Given the description of an element on the screen output the (x, y) to click on. 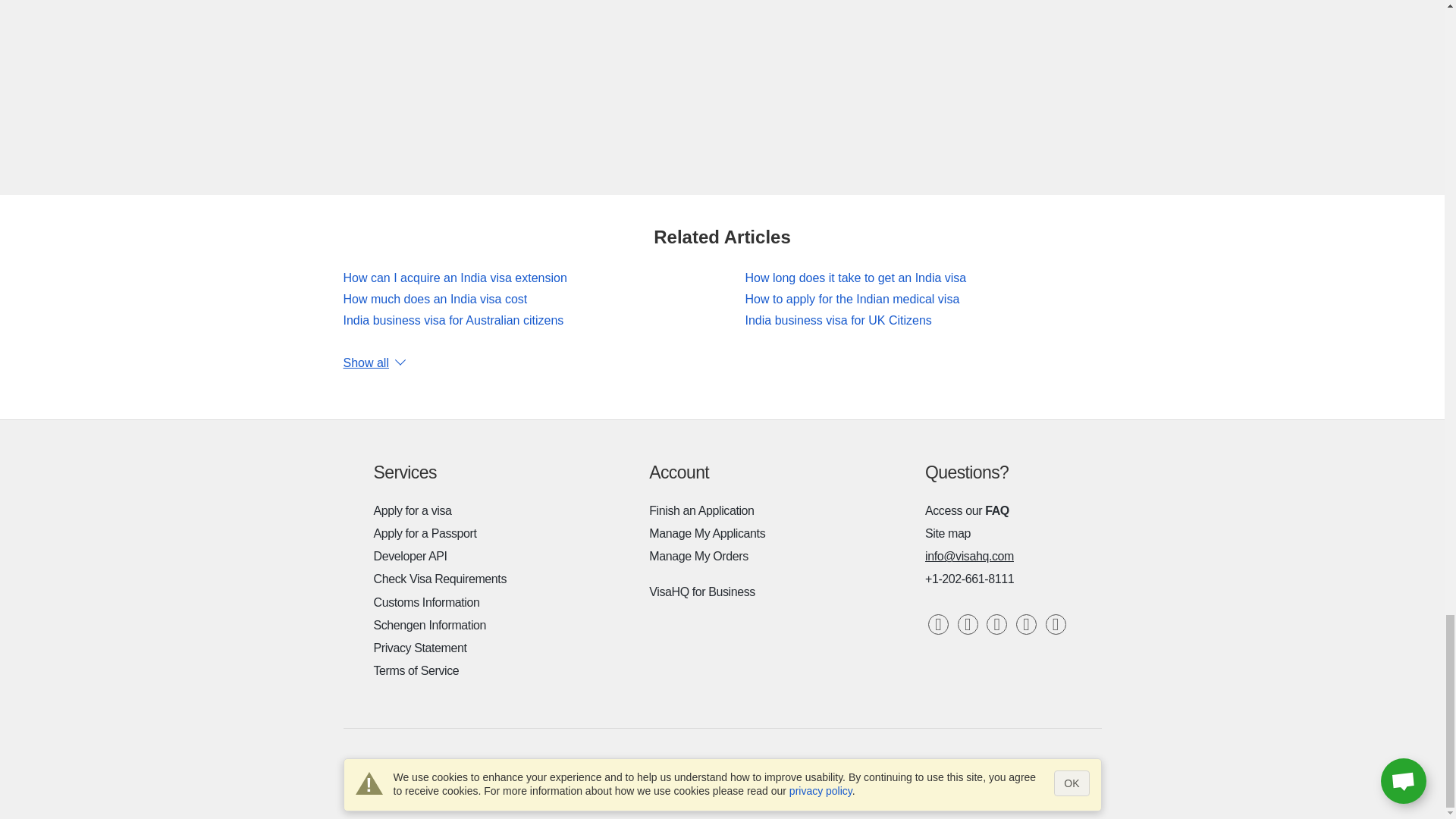
India business visa for Australian citizens (452, 319)
How much does an India visa cost (434, 298)
India business visa for UK Citizens (837, 319)
How to apply for the Indian medical visa (851, 298)
How can I acquire an India visa extension (454, 277)
How long does it take to get an India visa (855, 277)
Reviews Carousel Widget (721, 76)
